Given the description of an element on the screen output the (x, y) to click on. 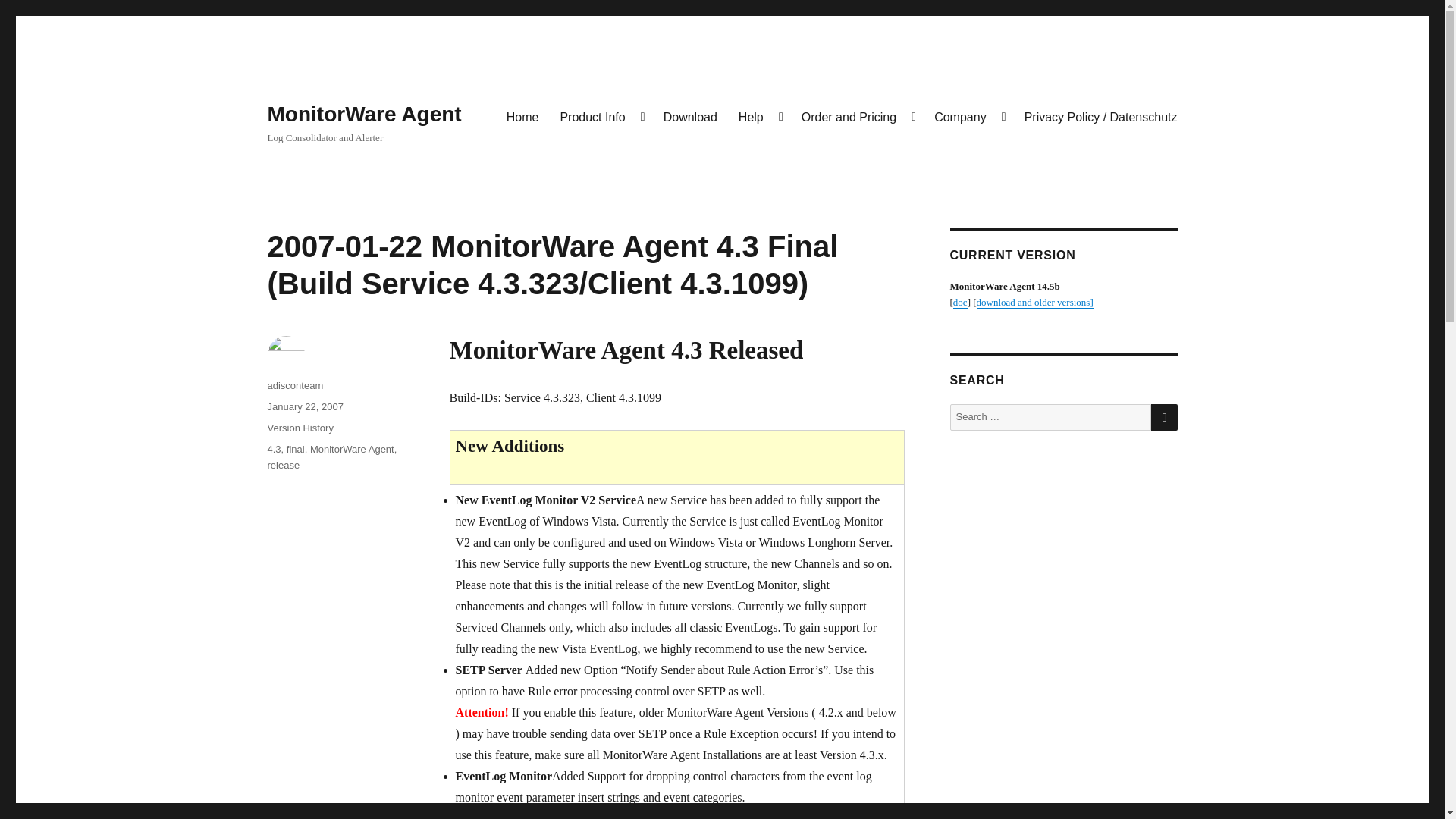
final (295, 449)
Help (759, 116)
doc (960, 301)
January 22, 2007 (304, 406)
Company (968, 116)
Product Info (600, 116)
Home (523, 116)
Version History (299, 428)
release (282, 464)
MonitorWare Agent (363, 114)
